Given the description of an element on the screen output the (x, y) to click on. 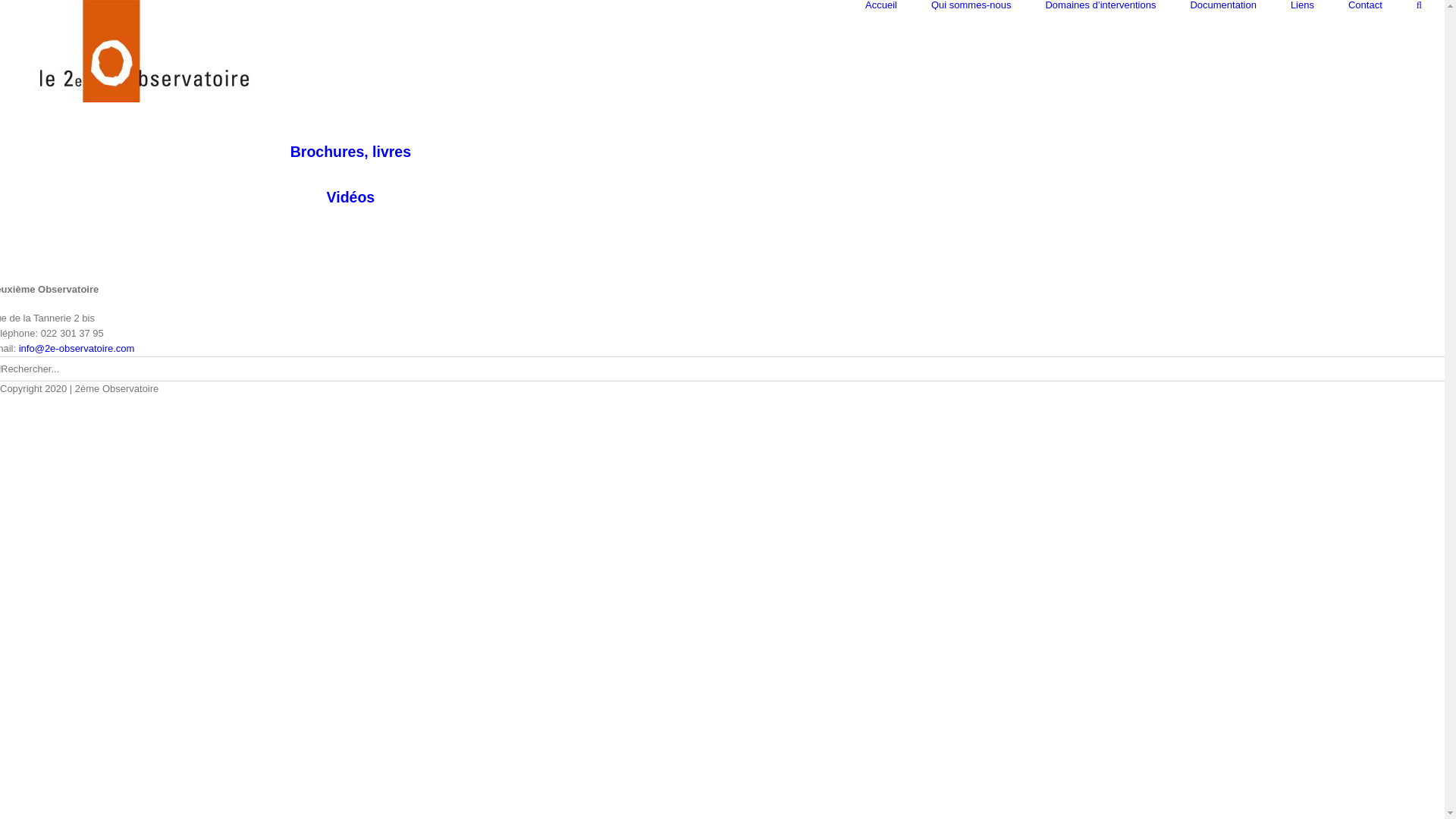
Brochures, livres Element type: text (350, 151)
Liens Element type: text (1302, 4)
info@2e-observatoire.com Element type: text (76, 348)
Recherche Element type: hover (1418, 4)
Qui sommes-nous Element type: text (970, 4)
Contact Element type: text (1365, 4)
Accueil Element type: text (881, 4)
Documentation Element type: text (1222, 4)
